Given the description of an element on the screen output the (x, y) to click on. 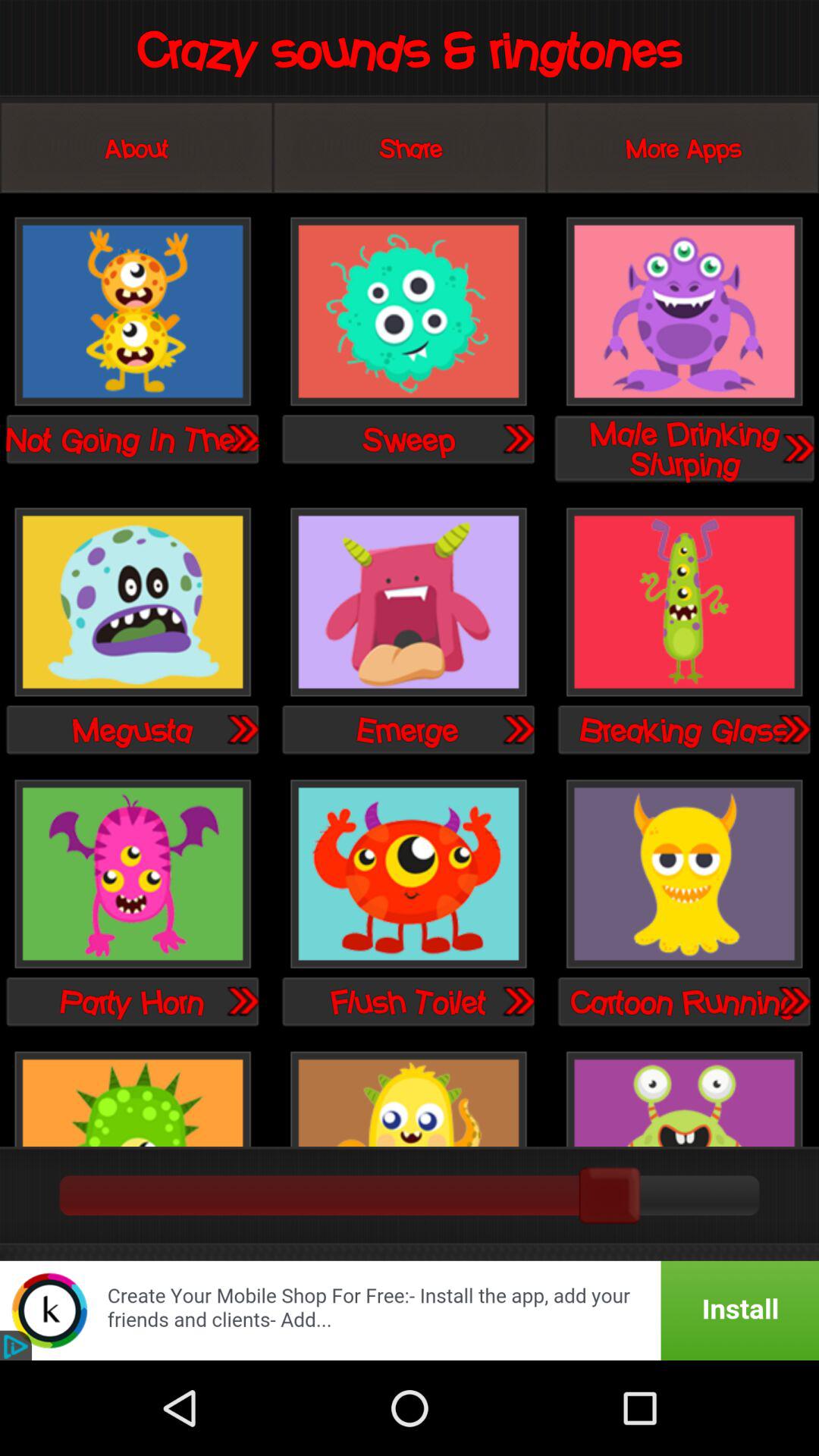
go to folder (793, 728)
